Given the description of an element on the screen output the (x, y) to click on. 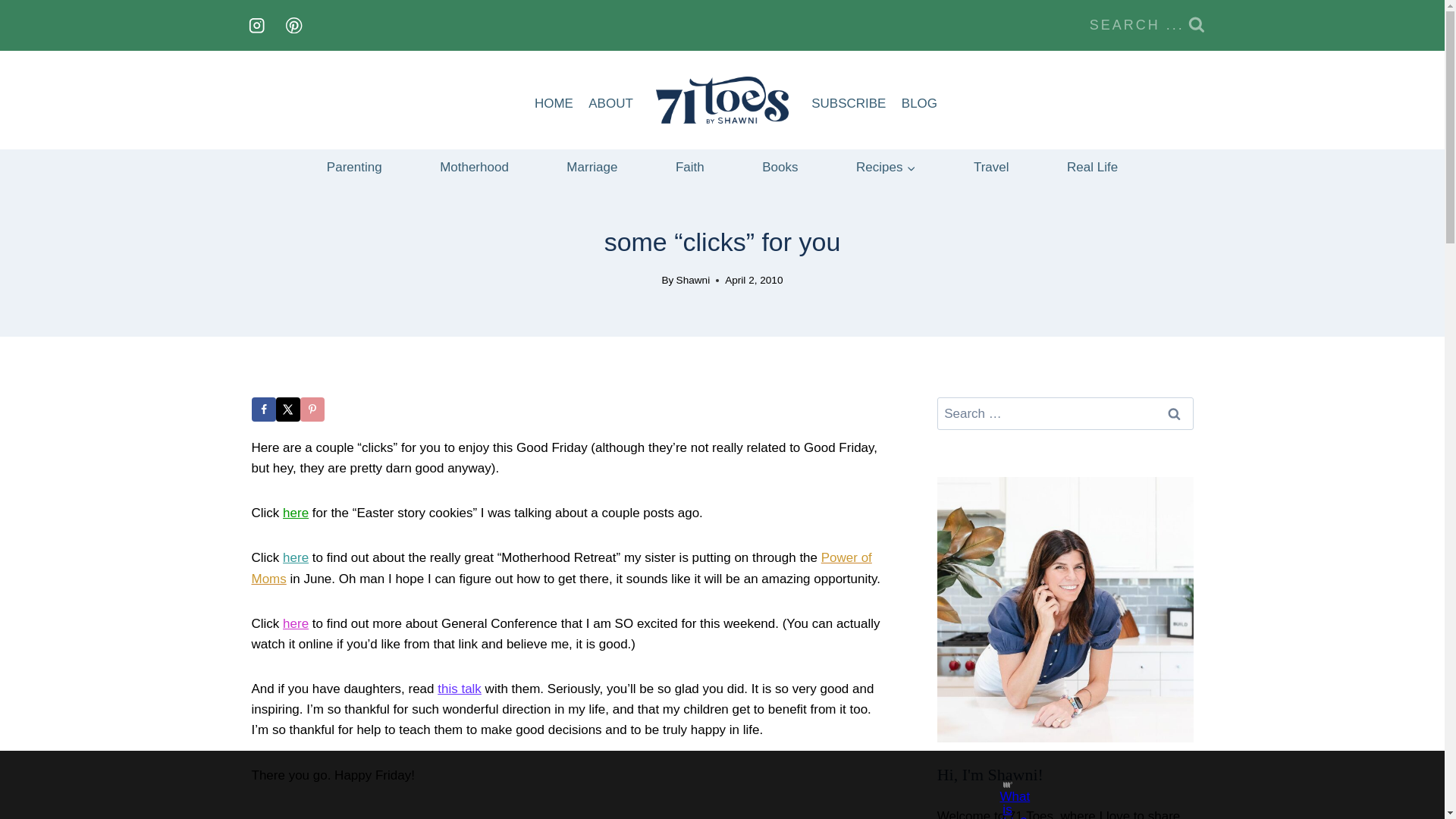
Save to Pinterest (311, 409)
Search (1174, 413)
Power of Moms (561, 567)
Recipes (885, 167)
here (295, 557)
Faith (689, 167)
this talk (459, 688)
SEARCH ... (1147, 25)
Search (1174, 413)
BLOG (918, 103)
3rd party ad content (708, 785)
Real Life (1092, 167)
Share on X (287, 409)
Motherhood (473, 167)
ABOUT (610, 103)
